Given the description of an element on the screen output the (x, y) to click on. 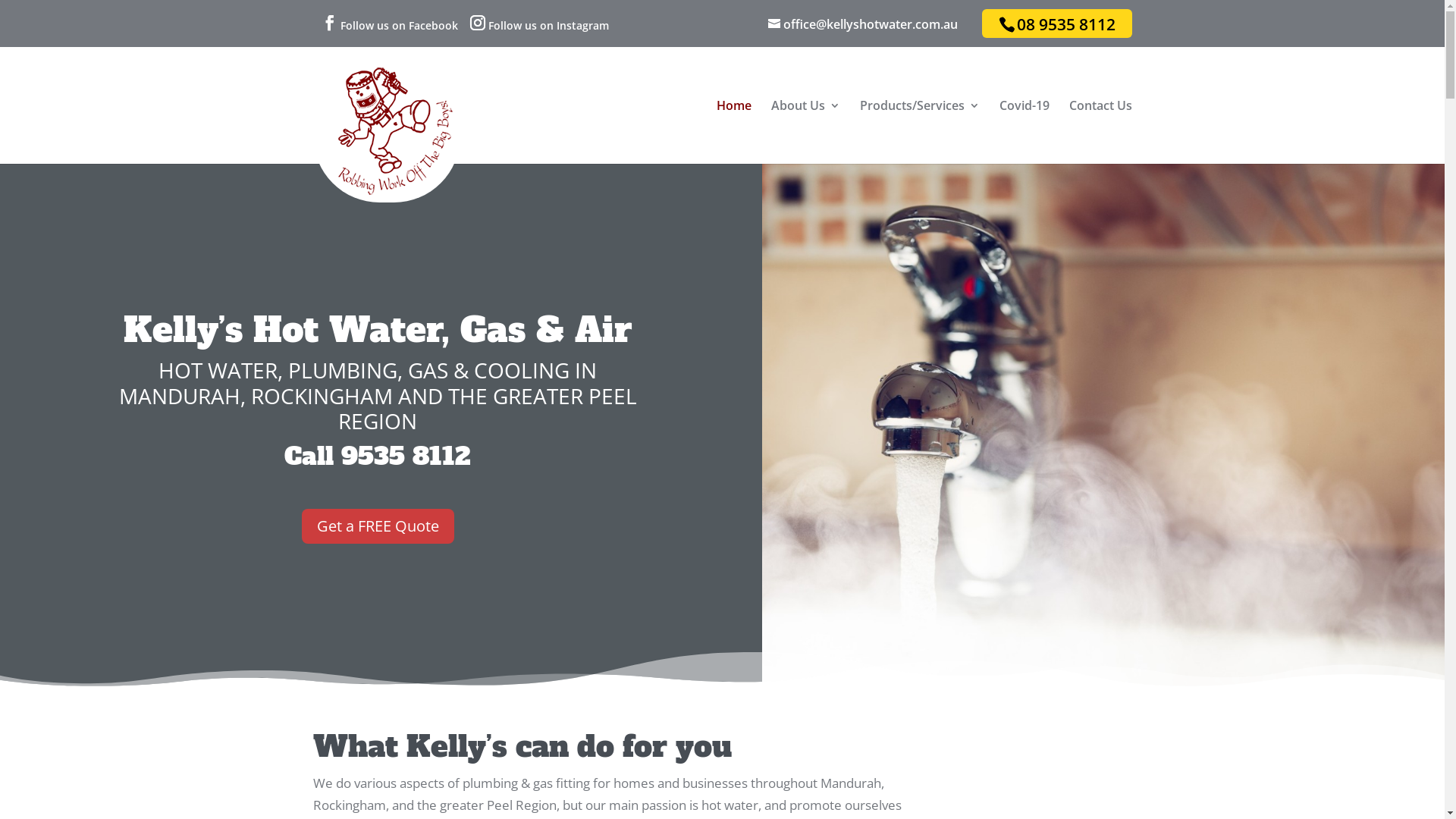
office@kellyshotwater.com.au Element type: text (862, 23)
Call 9535 8112 Element type: text (377, 456)
Home Element type: text (732, 131)
Products/Services Element type: text (919, 131)
Covid-19 Element type: text (1024, 131)
08 9535 8112 Element type: text (1065, 23)
Contact Us Element type: text (1100, 131)
Get a FREE Quote Element type: text (377, 525)
About Us Element type: text (804, 131)
